Given the description of an element on the screen output the (x, y) to click on. 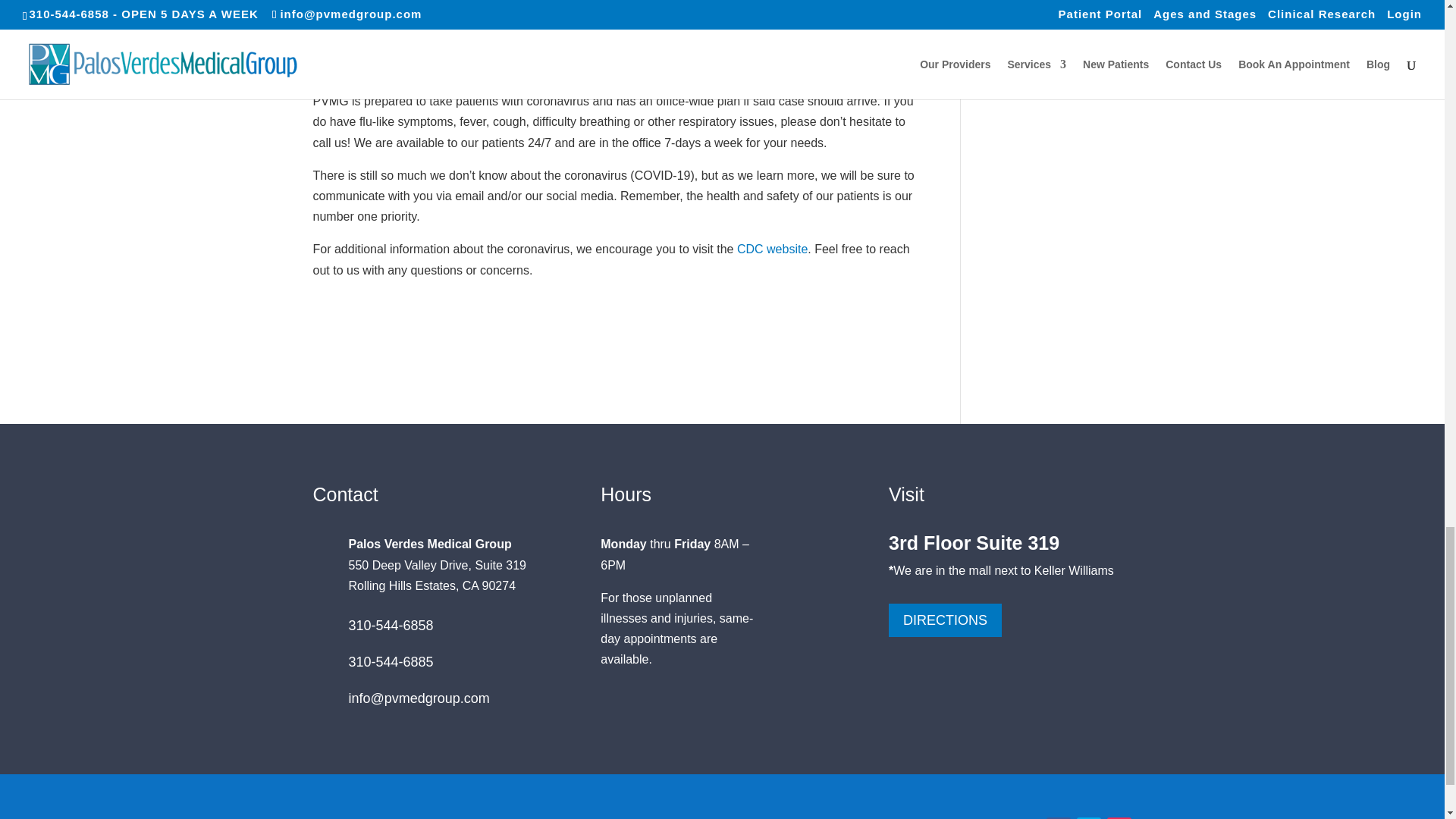
Follow on Twitter (1088, 818)
Follow on Instagram (1118, 818)
Follow on Facebook (1058, 818)
